Given the description of an element on the screen output the (x, y) to click on. 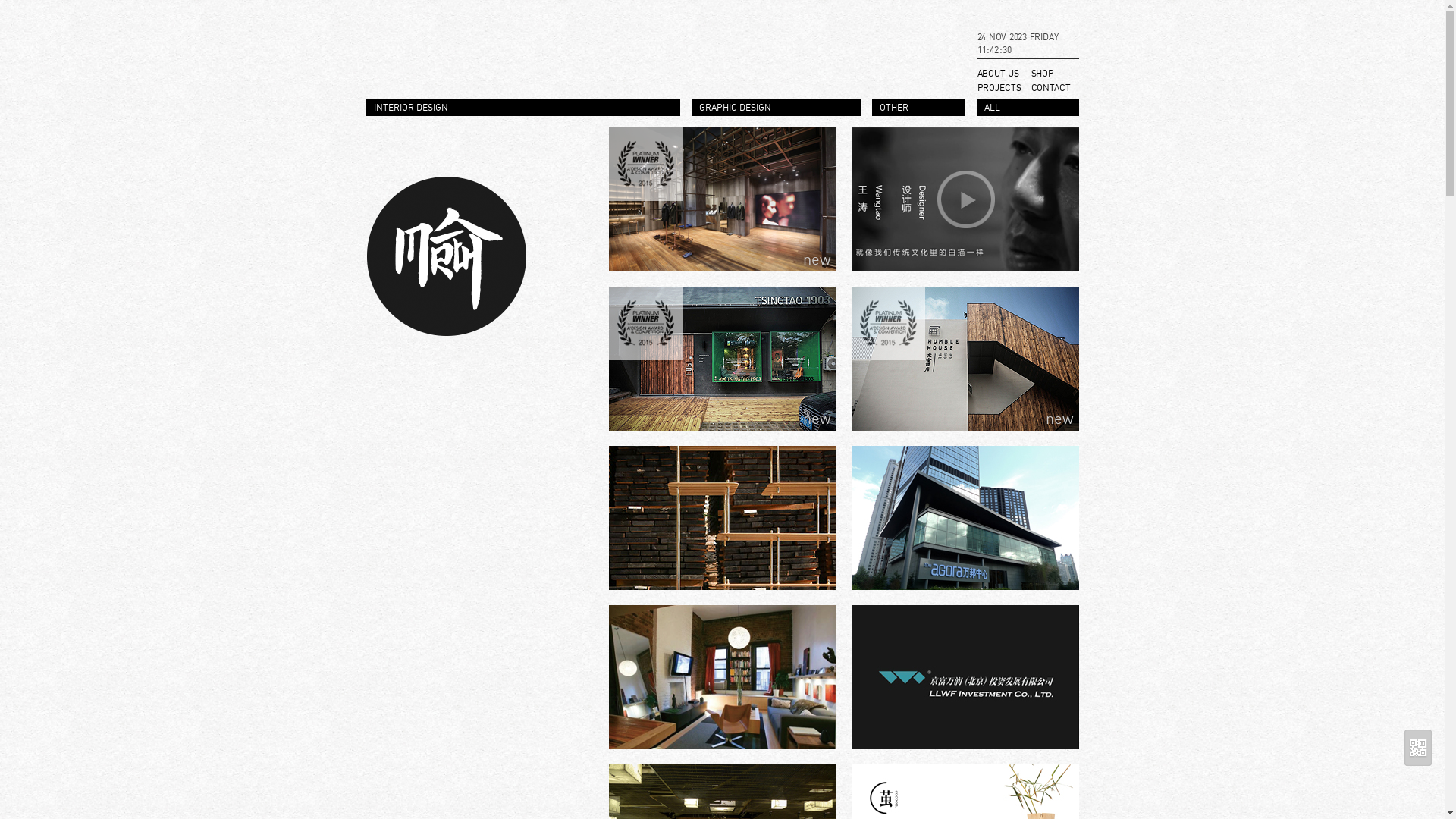
PROJECTS Element type: text (1002, 88)
GRAPHIC DESIGN Element type: text (783, 109)
CONTACT Element type: text (1054, 88)
SHOP Element type: text (1054, 74)
ALL Element type: text (1035, 109)
OTHER Element type: text (926, 109)
ABOUT US Element type: text (1002, 74)
INTERIOR DESIGN Element type: text (529, 109)
